Given the description of an element on the screen output the (x, y) to click on. 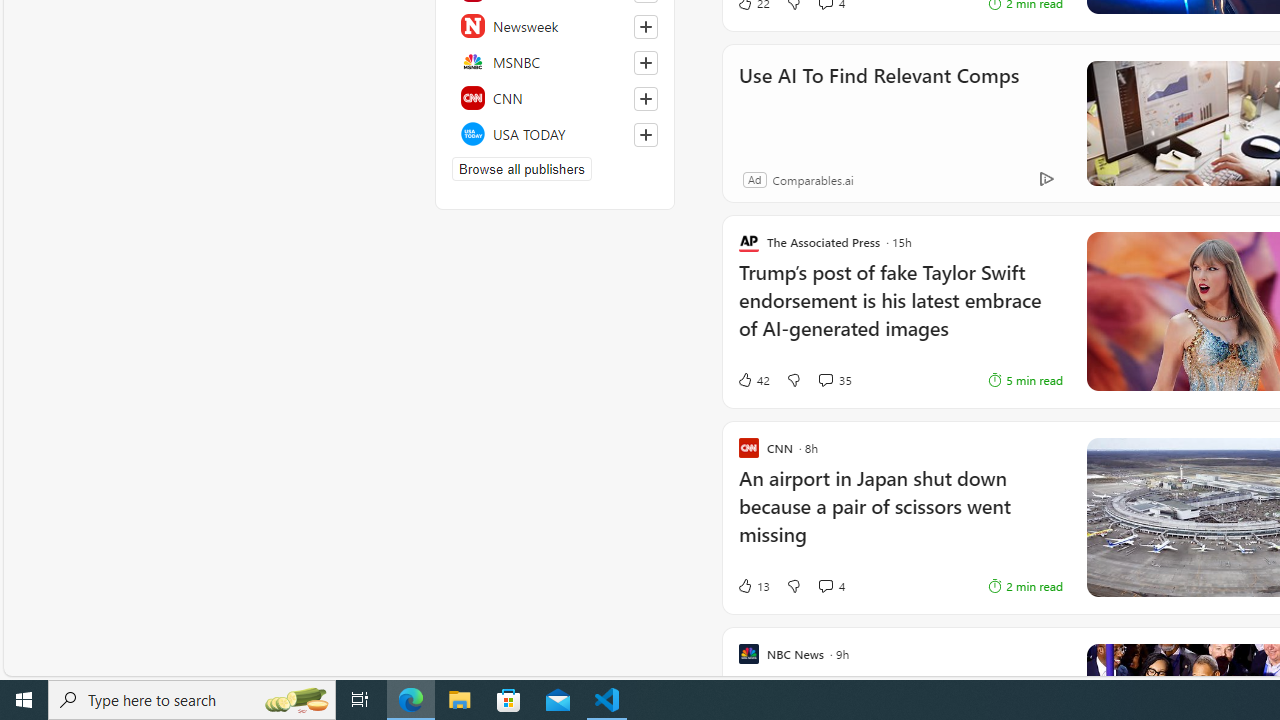
13 Like (753, 585)
View comments 35 Comment (825, 380)
42 Like (753, 379)
Comparables.ai (812, 179)
View comments 4 Comment (830, 585)
Use AI To Find Relevant Comps (878, 102)
